Given the description of an element on the screen output the (x, y) to click on. 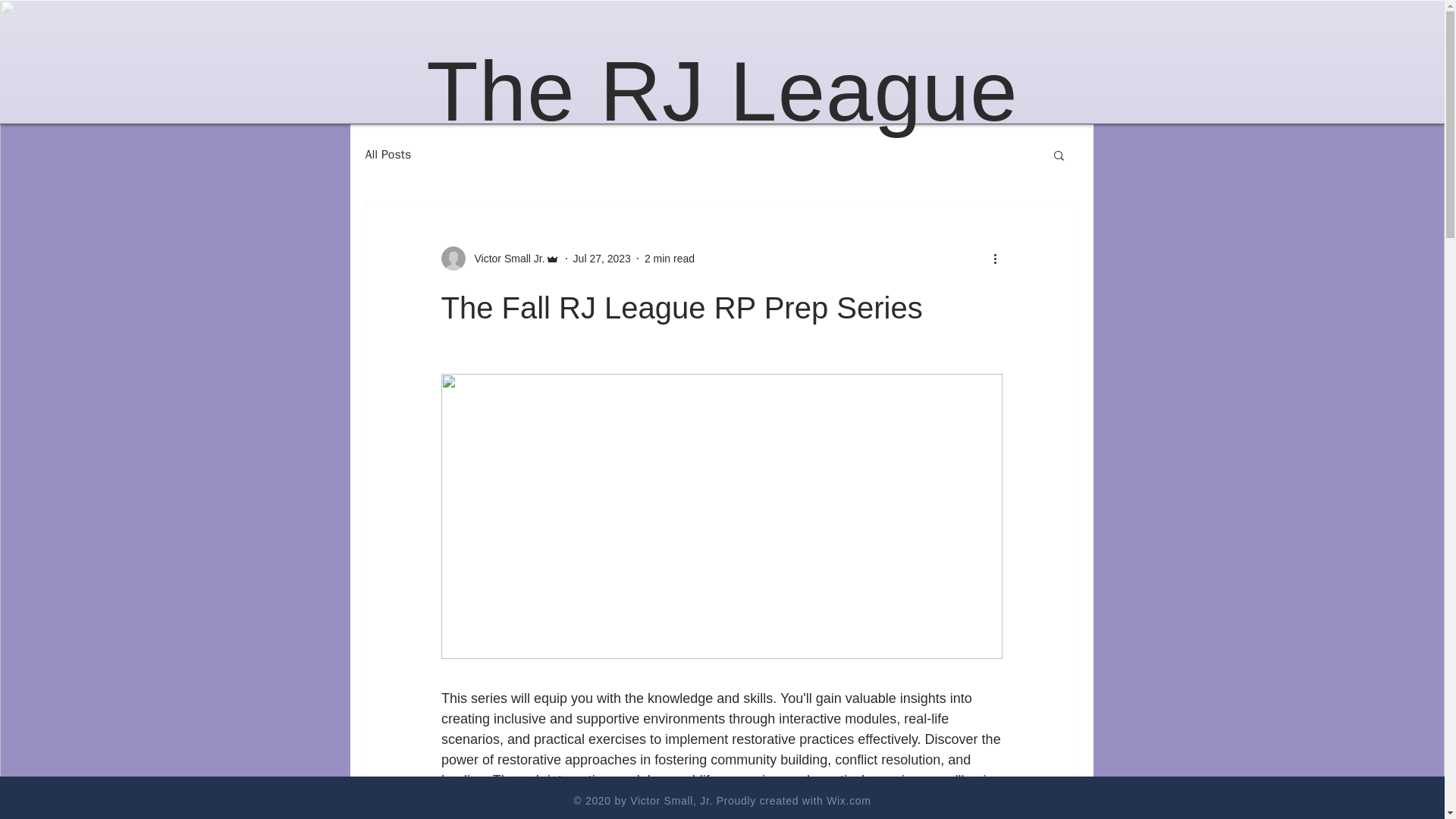
2 min read (669, 257)
All Posts (388, 154)
Victor  Small Jr. (504, 258)
Jul 27, 2023 (601, 257)
Victor Small Jr. (500, 258)
Proudly created with Wix.com (793, 800)
